Given the description of an element on the screen output the (x, y) to click on. 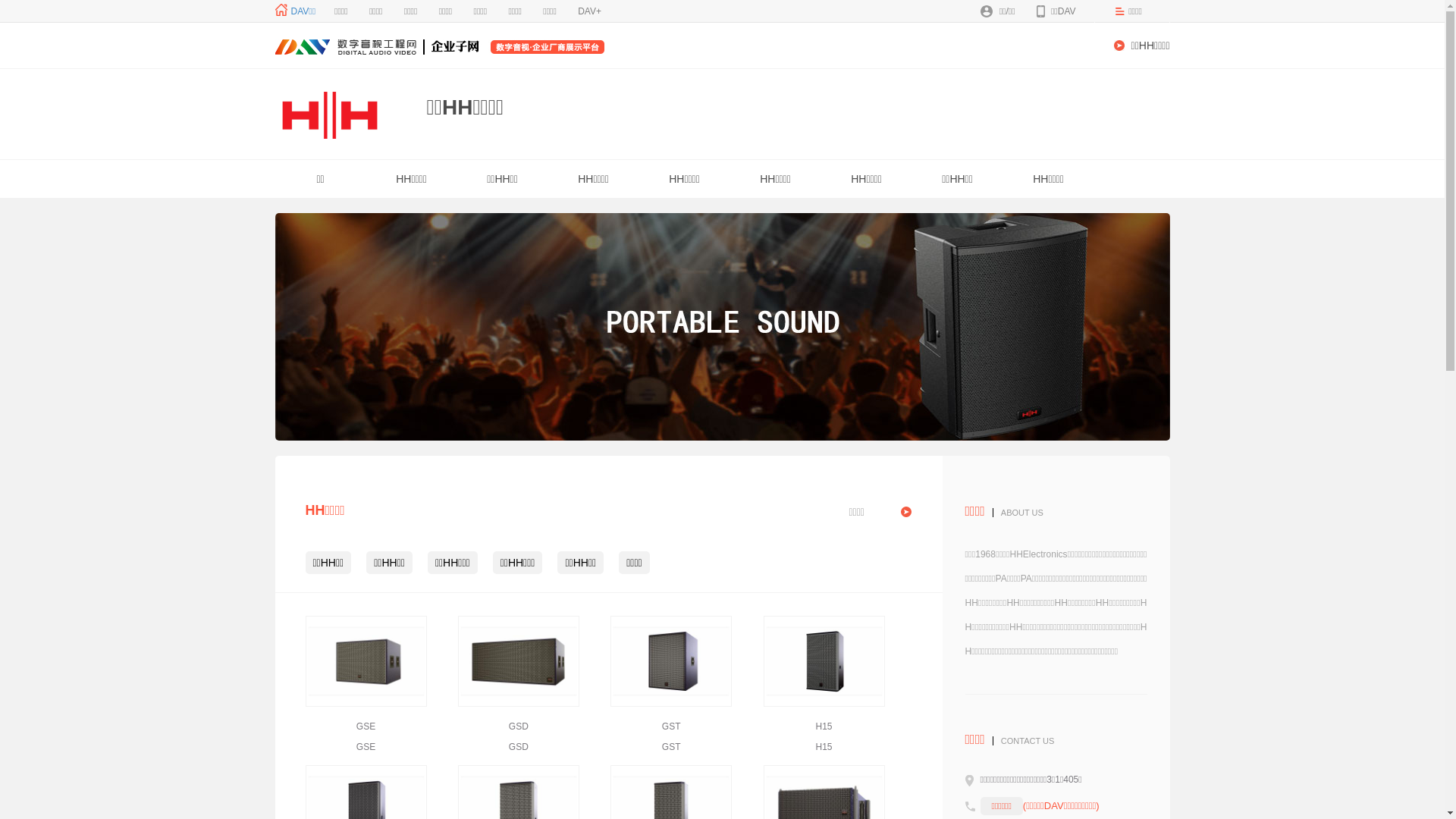
DAV+ Element type: text (589, 11)
